Given the description of an element on the screen output the (x, y) to click on. 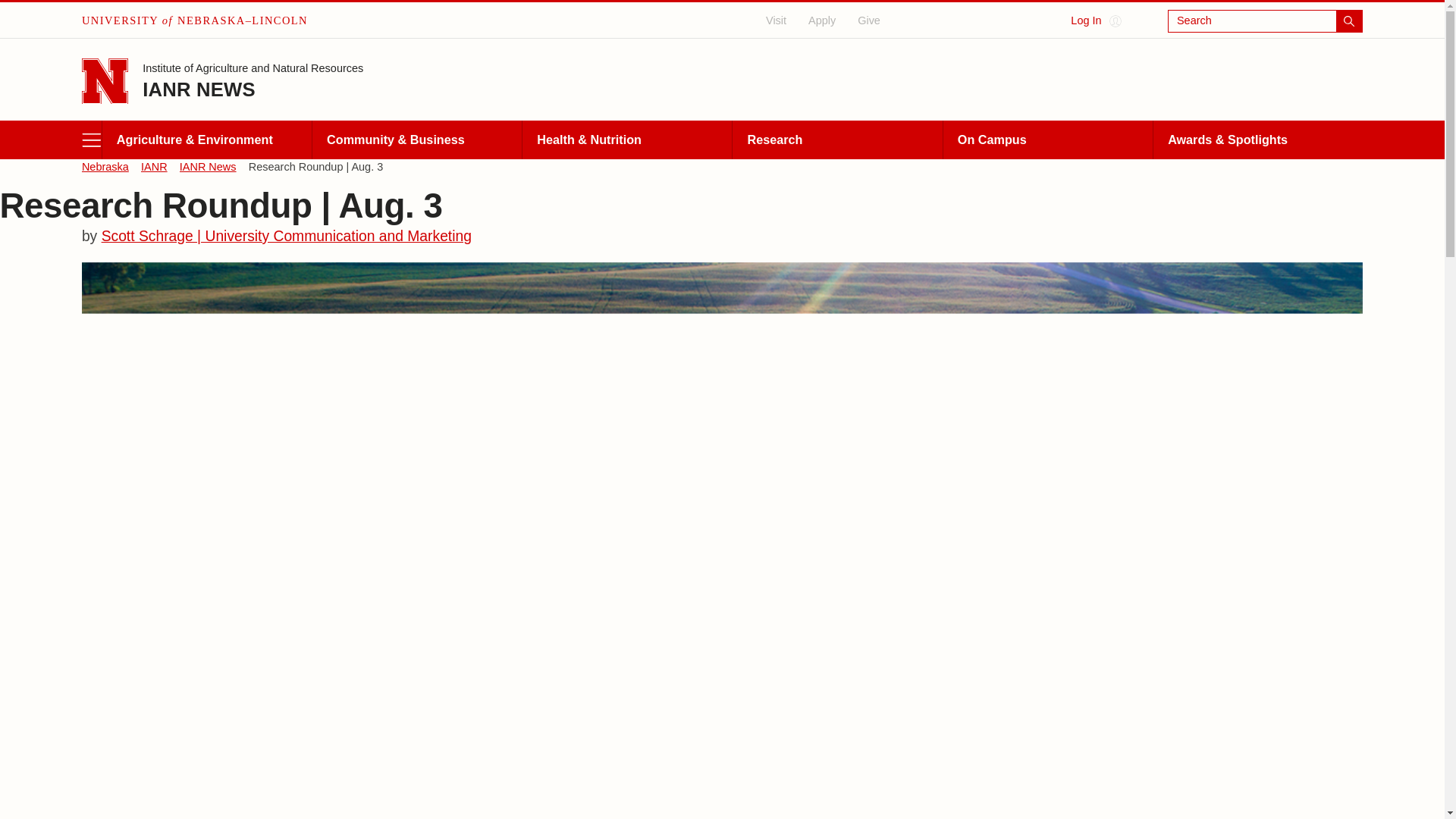
Log In (1095, 21)
Skip to main content (13, 10)
IANR (154, 167)
Give (869, 20)
On Campus (1047, 139)
Visit (776, 20)
Institute of Agriculture and Natural Resources (252, 69)
IANR NEWS (199, 88)
Search (1264, 21)
Nebraska (105, 167)
Apply (822, 20)
IANR News (207, 167)
Research (837, 139)
